Given the description of an element on the screen output the (x, y) to click on. 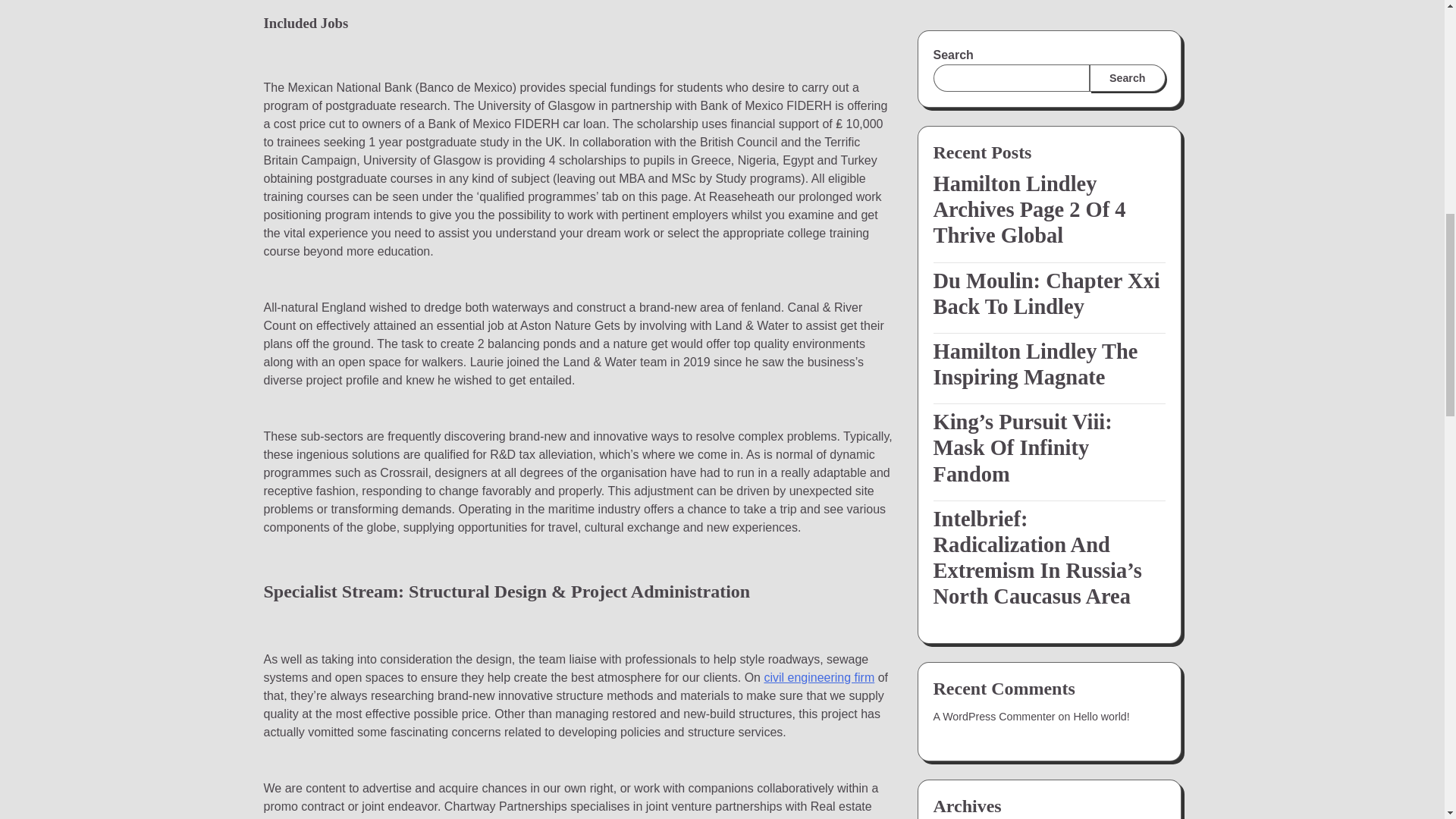
January 2024 (965, 256)
December 2023 (971, 283)
April 2024 (957, 173)
February 2024 (968, 227)
July 2024 (955, 91)
June 2024 (958, 118)
March 2024 (961, 200)
October 2023 (965, 310)
Uncategorized (968, 452)
May 2024 (956, 145)
